Given the description of an element on the screen output the (x, y) to click on. 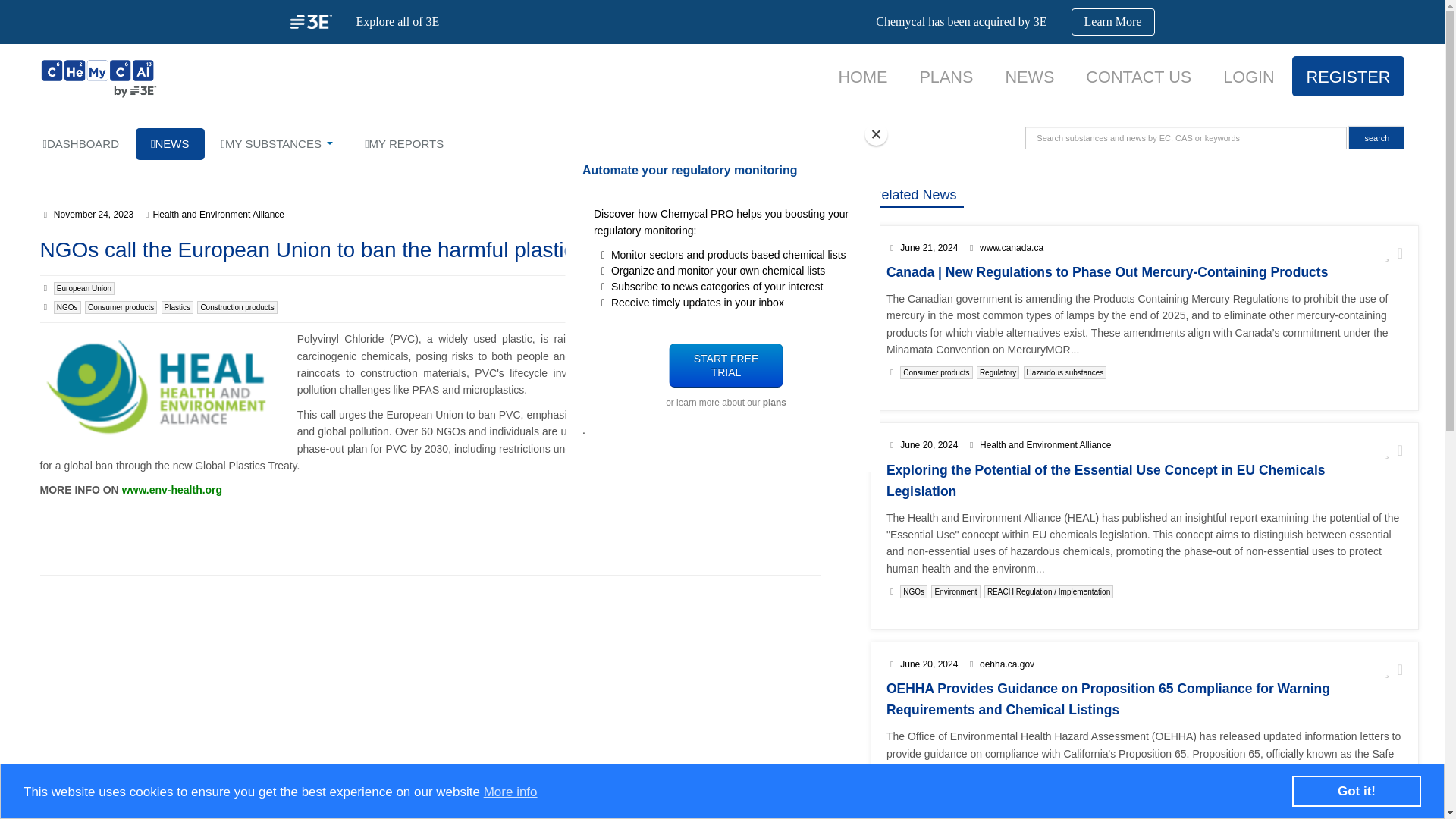
Health and Environment Alliance (217, 214)
Explore all of 3E (397, 21)
More info (510, 791)
LOGIN (1249, 76)
search (1377, 137)
NEWS (1029, 76)
HOME (862, 76)
Got it! (1356, 790)
NGOs (67, 307)
Construction products (236, 307)
DASHBOARD (80, 143)
CONTACT US (1138, 76)
www.env-health.org (172, 490)
PLANS (945, 76)
plans (773, 402)
